Given the description of an element on the screen output the (x, y) to click on. 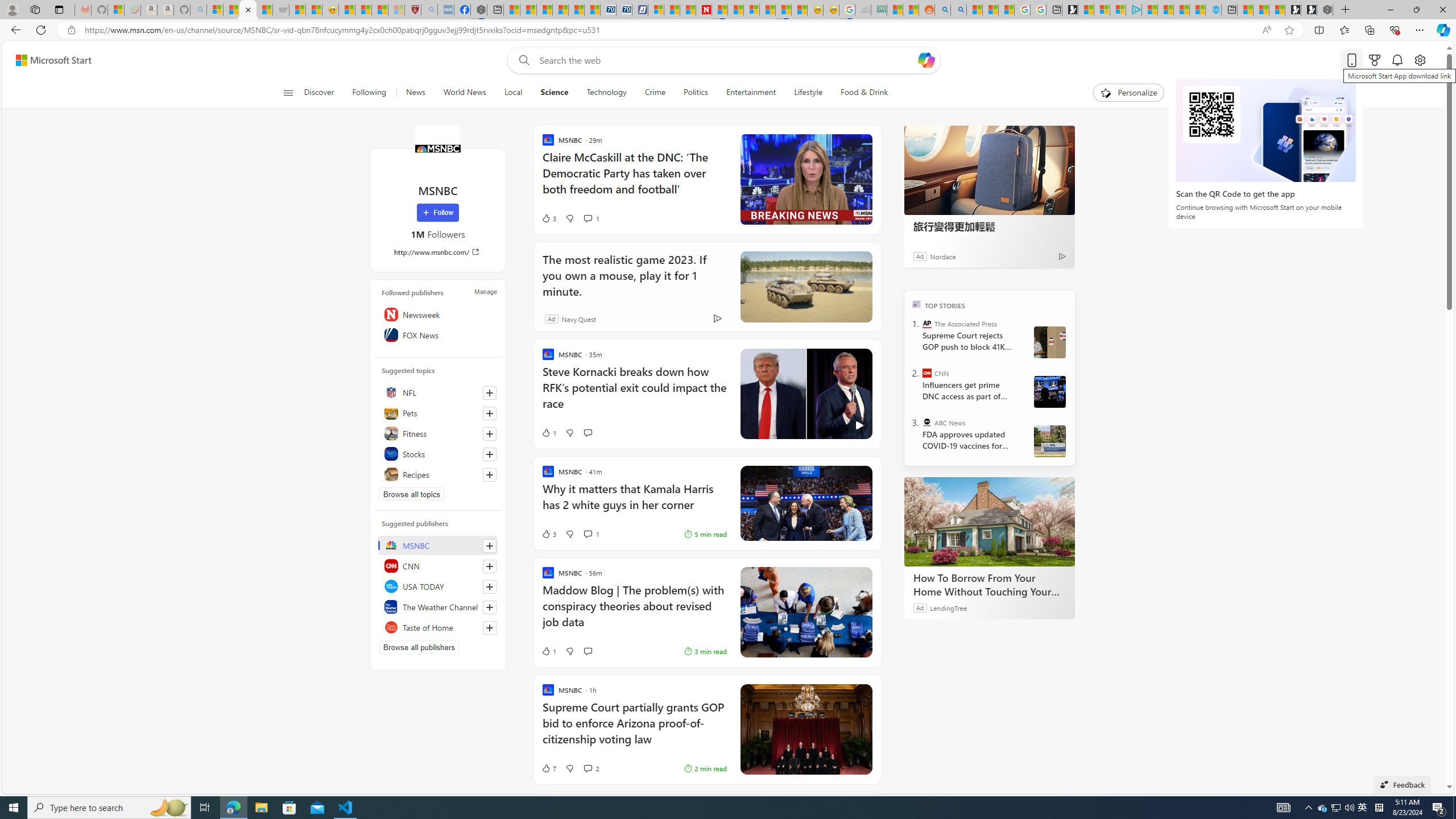
The Weather Channel (437, 606)
Follow (437, 212)
USA TODAY (437, 586)
LendingTree (948, 607)
Stocks (437, 453)
CNN (927, 372)
FOX News (437, 334)
